Given the description of an element on the screen output the (x, y) to click on. 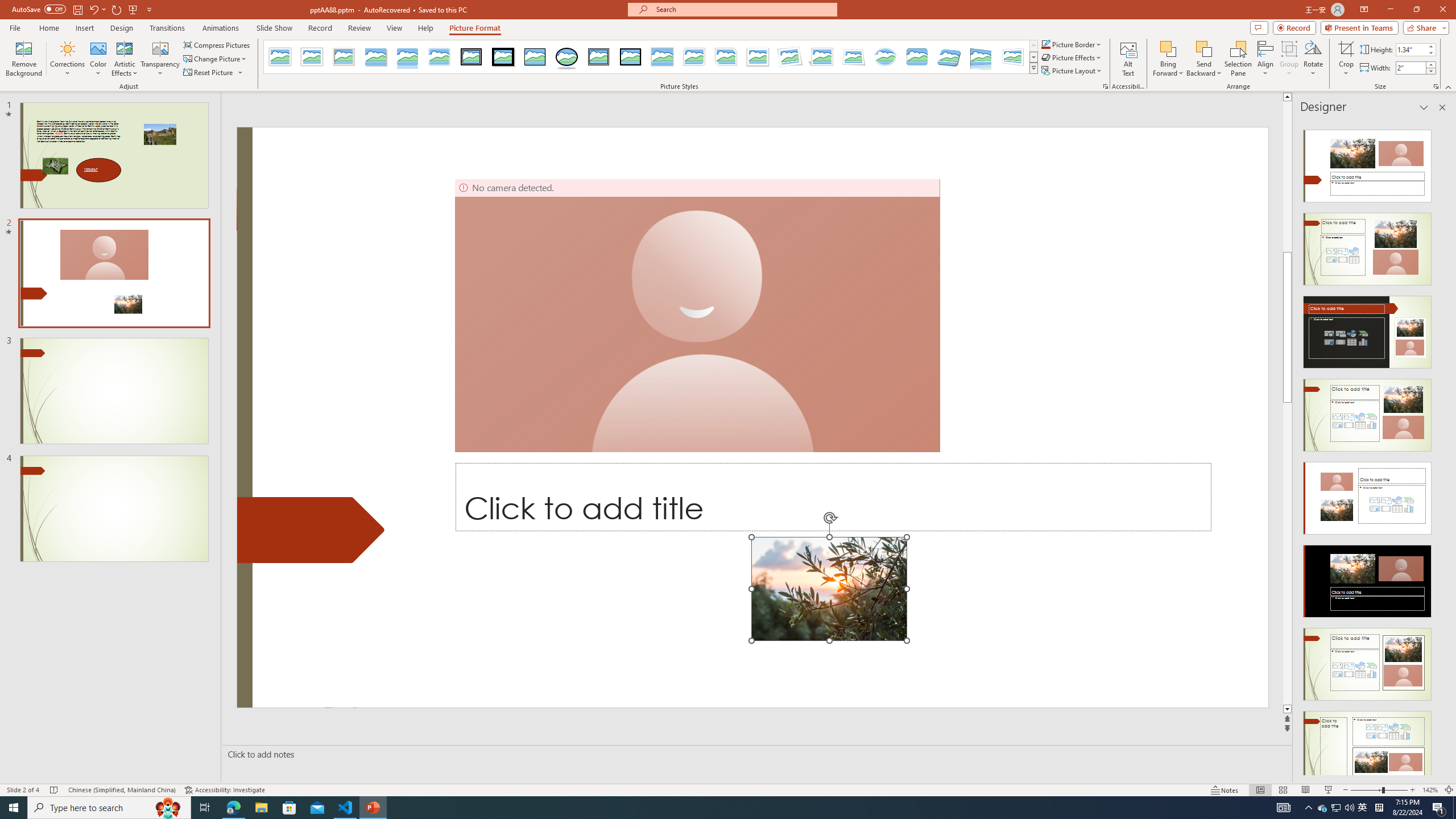
Color (97, 58)
Bring Forward (1168, 58)
